Given the description of an element on the screen output the (x, y) to click on. 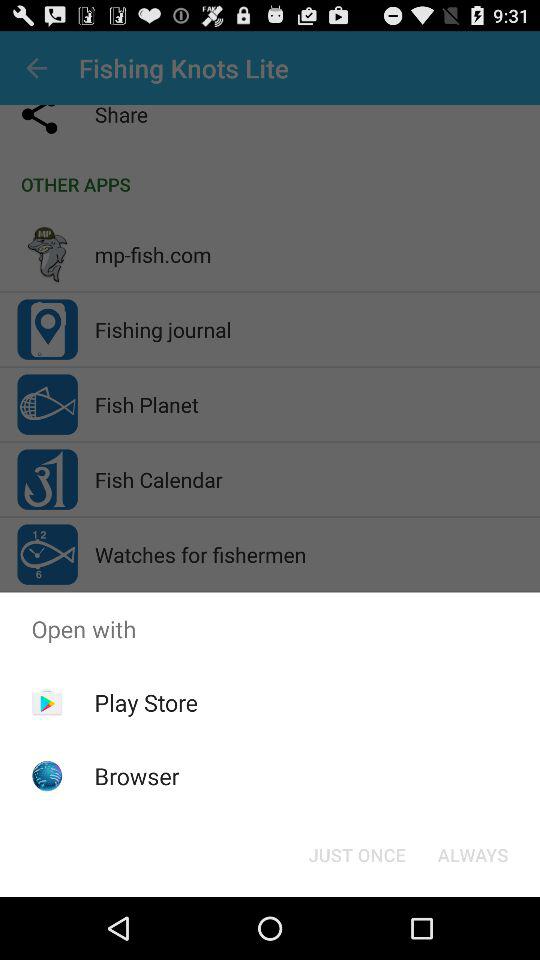
press the icon above the browser icon (146, 702)
